Given the description of an element on the screen output the (x, y) to click on. 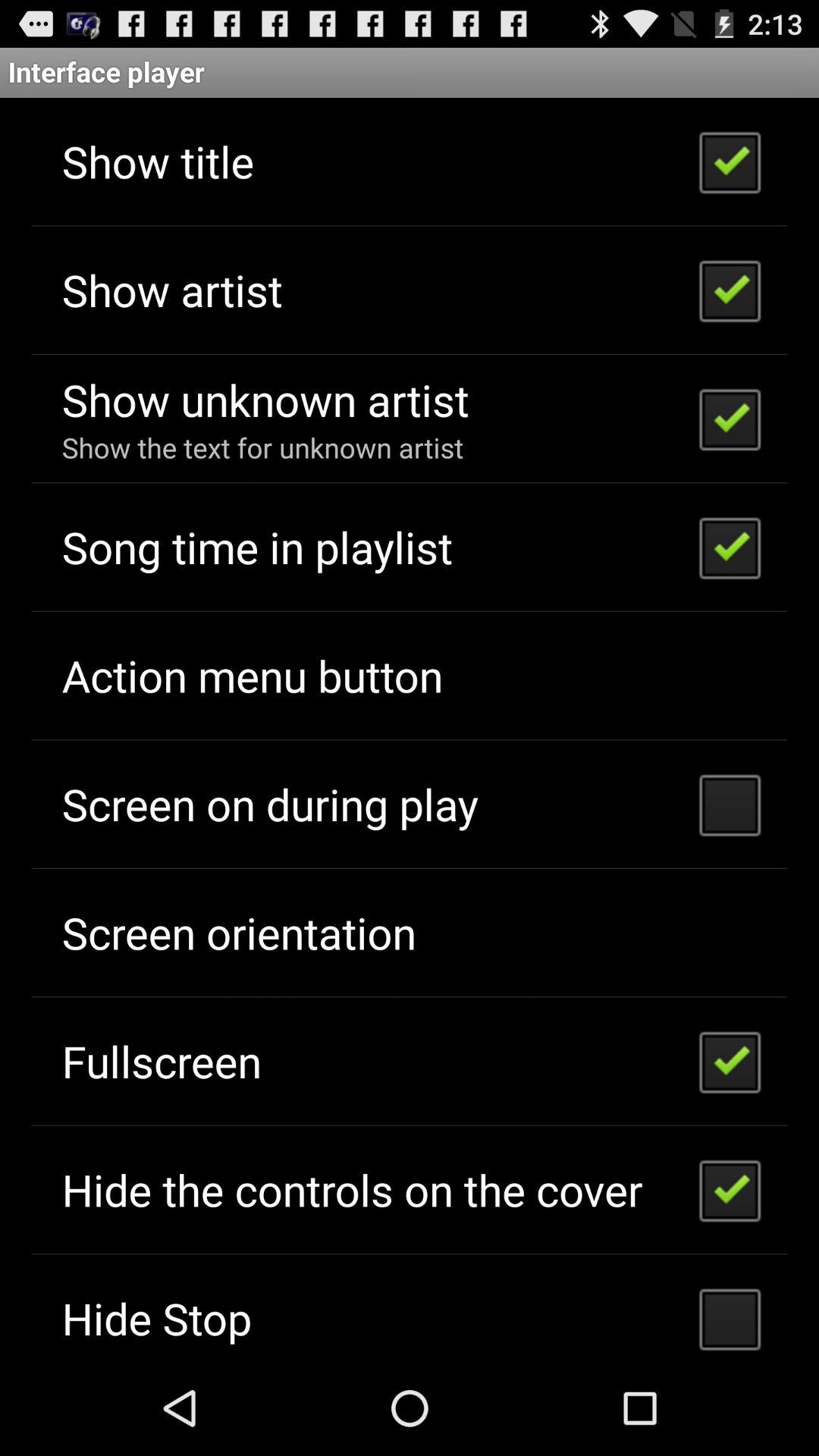
select the icon below the song time in app (252, 675)
